Given the description of an element on the screen output the (x, y) to click on. 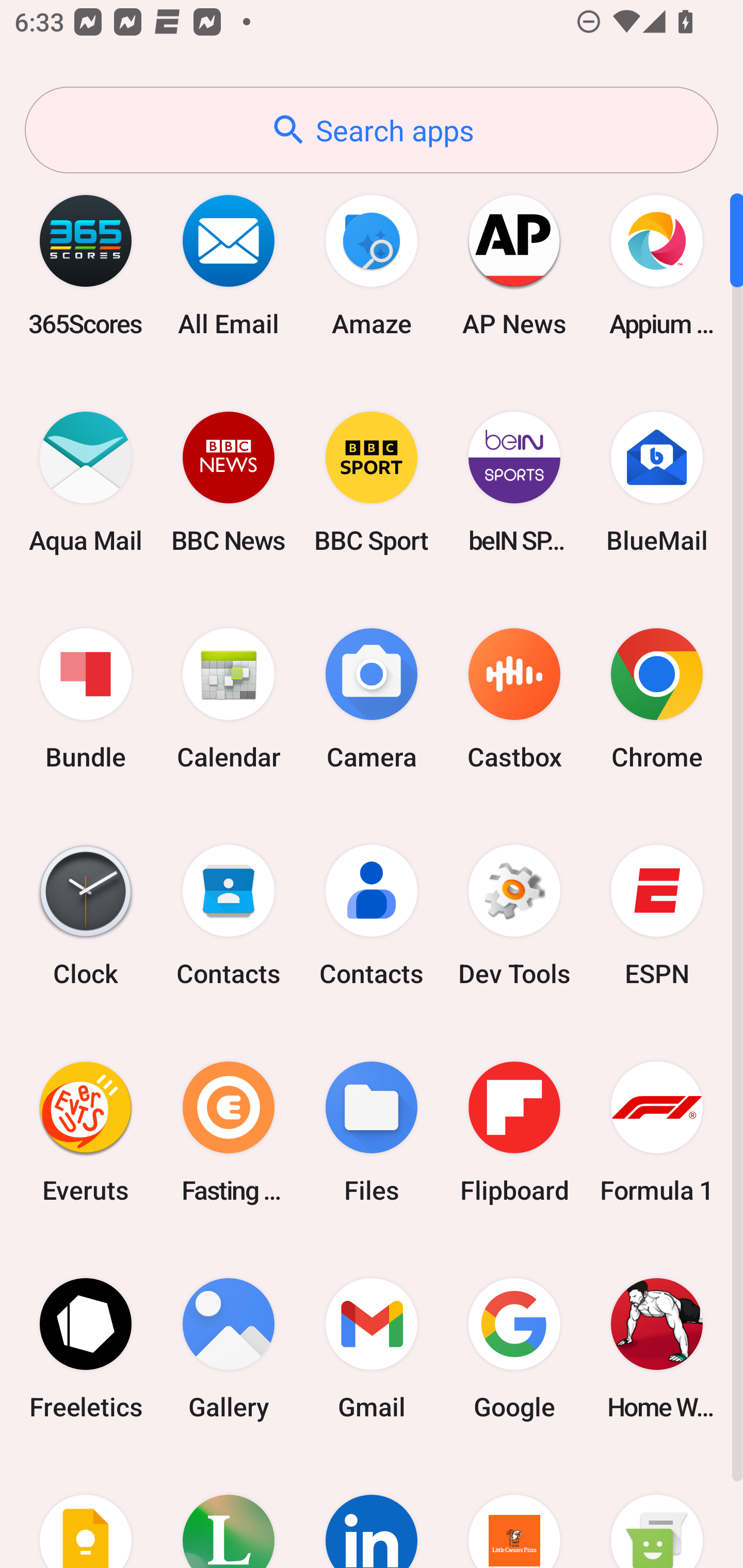
  Search apps (371, 130)
365Scores (85, 264)
All Email (228, 264)
Amaze (371, 264)
AP News (514, 264)
Appium Settings (656, 264)
Aqua Mail (85, 482)
BBC News (228, 482)
BBC Sport (371, 482)
beIN SPORTS (514, 482)
BlueMail (656, 482)
Bundle (85, 699)
Calendar (228, 699)
Camera (371, 699)
Castbox (514, 699)
Chrome (656, 699)
Clock (85, 915)
Contacts (228, 915)
Contacts (371, 915)
Dev Tools (514, 915)
ESPN (656, 915)
Everuts (85, 1131)
Fasting Coach (228, 1131)
Files (371, 1131)
Flipboard (514, 1131)
Formula 1 (656, 1131)
Freeletics (85, 1348)
Gallery (228, 1348)
Gmail (371, 1348)
Google (514, 1348)
Home Workout (656, 1348)
